Given the description of an element on the screen output the (x, y) to click on. 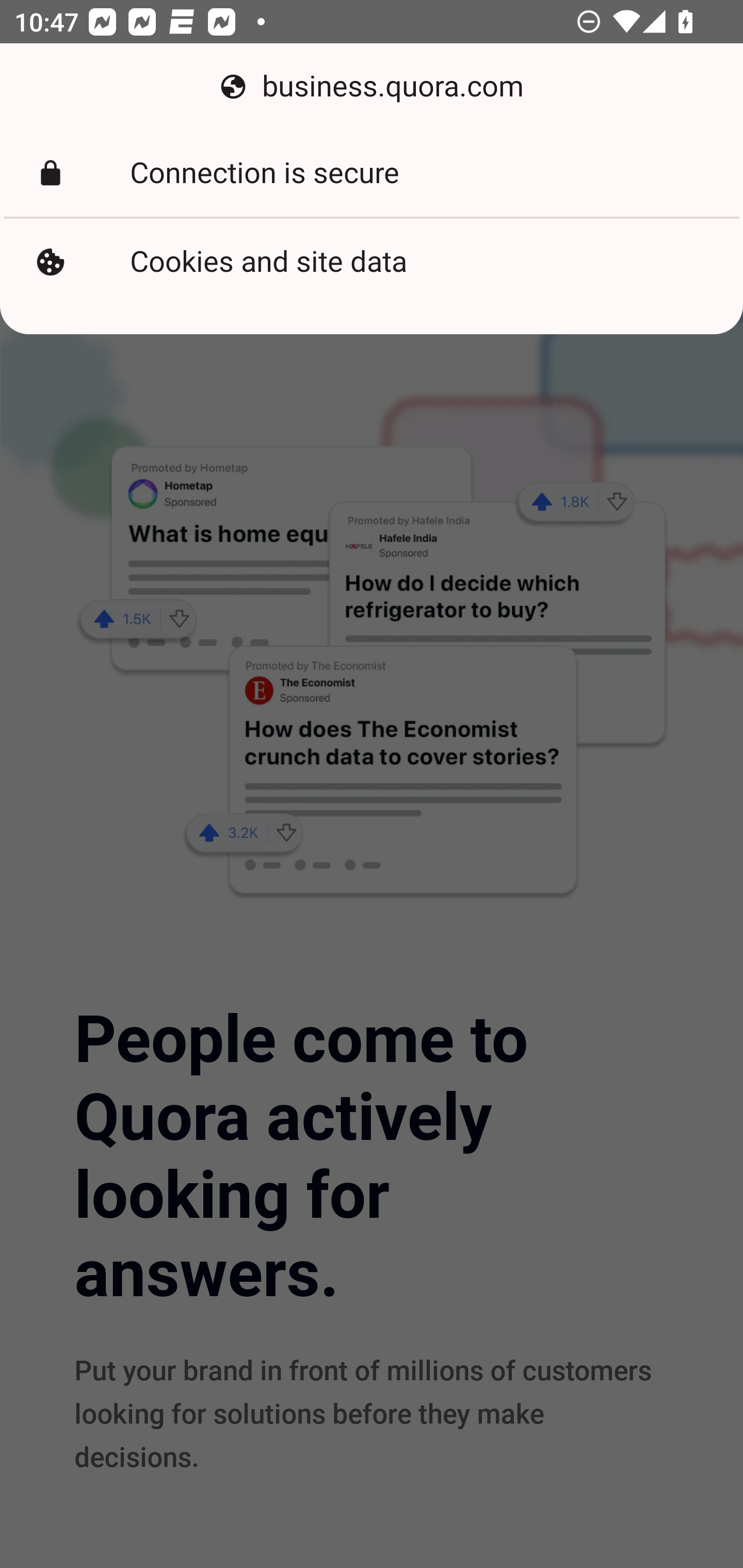
business.quora.com (371, 86)
Connection is secure (371, 173)
Cookies and site data (371, 261)
